Given the description of an element on the screen output the (x, y) to click on. 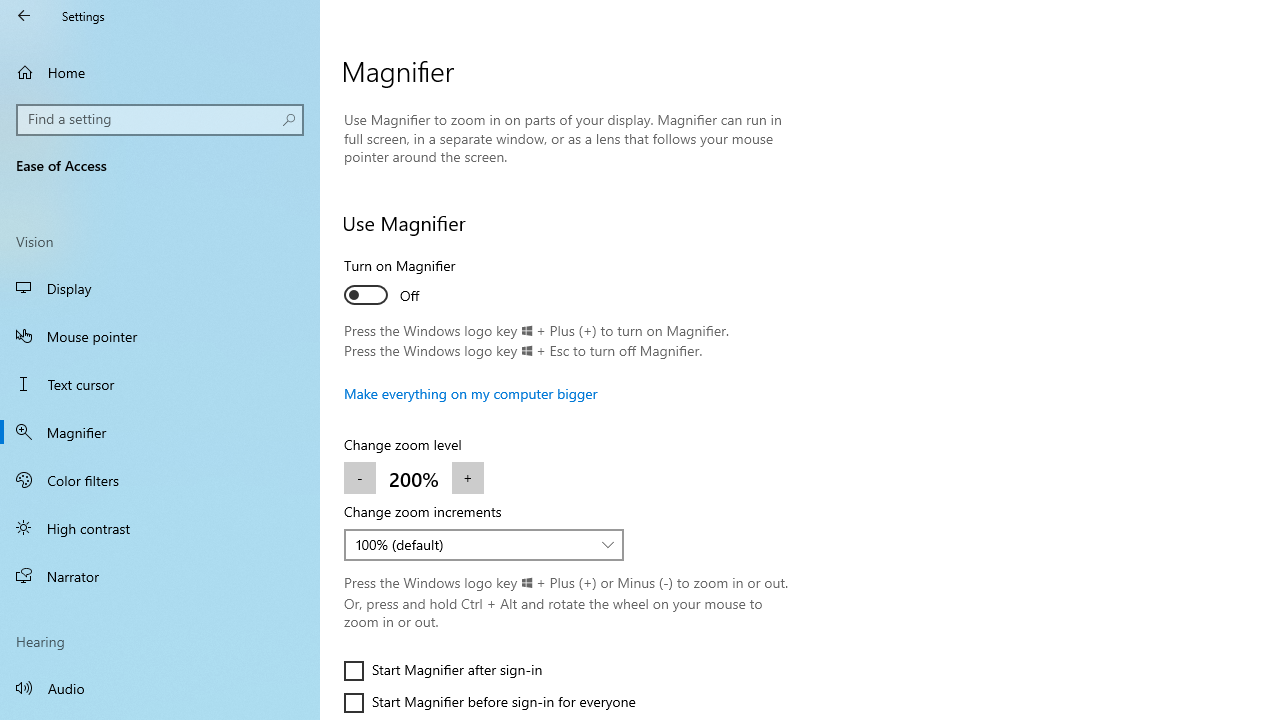
Audio (160, 687)
Start Magnifier before sign-in for everyone (490, 702)
Text cursor (160, 384)
Display (160, 287)
Back (24, 15)
Home (160, 71)
Search box, Find a setting (160, 119)
Start Magnifier after sign-in (443, 670)
High contrast (160, 527)
Narrator (160, 575)
Zoom in (467, 477)
Turn on Magnifier (417, 283)
Zoom out (360, 477)
Make everything on my computer bigger (470, 393)
Mouse pointer (160, 335)
